Given the description of an element on the screen output the (x, y) to click on. 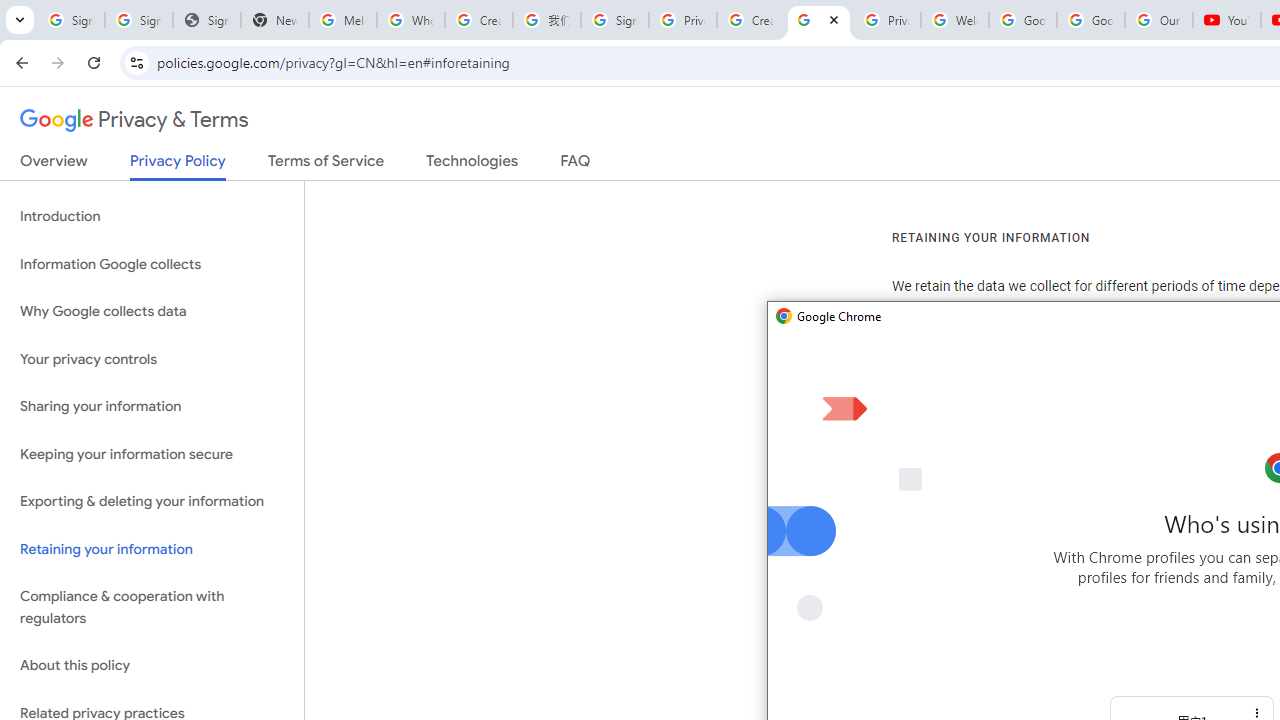
Retaining your information (152, 548)
Your privacy controls (152, 358)
Who is my administrator? - Google Account Help (411, 20)
Sharing your information (152, 407)
Compliance & cooperation with regulators (152, 607)
Google Account (1091, 20)
Keeping your information secure (152, 453)
